Given the description of an element on the screen output the (x, y) to click on. 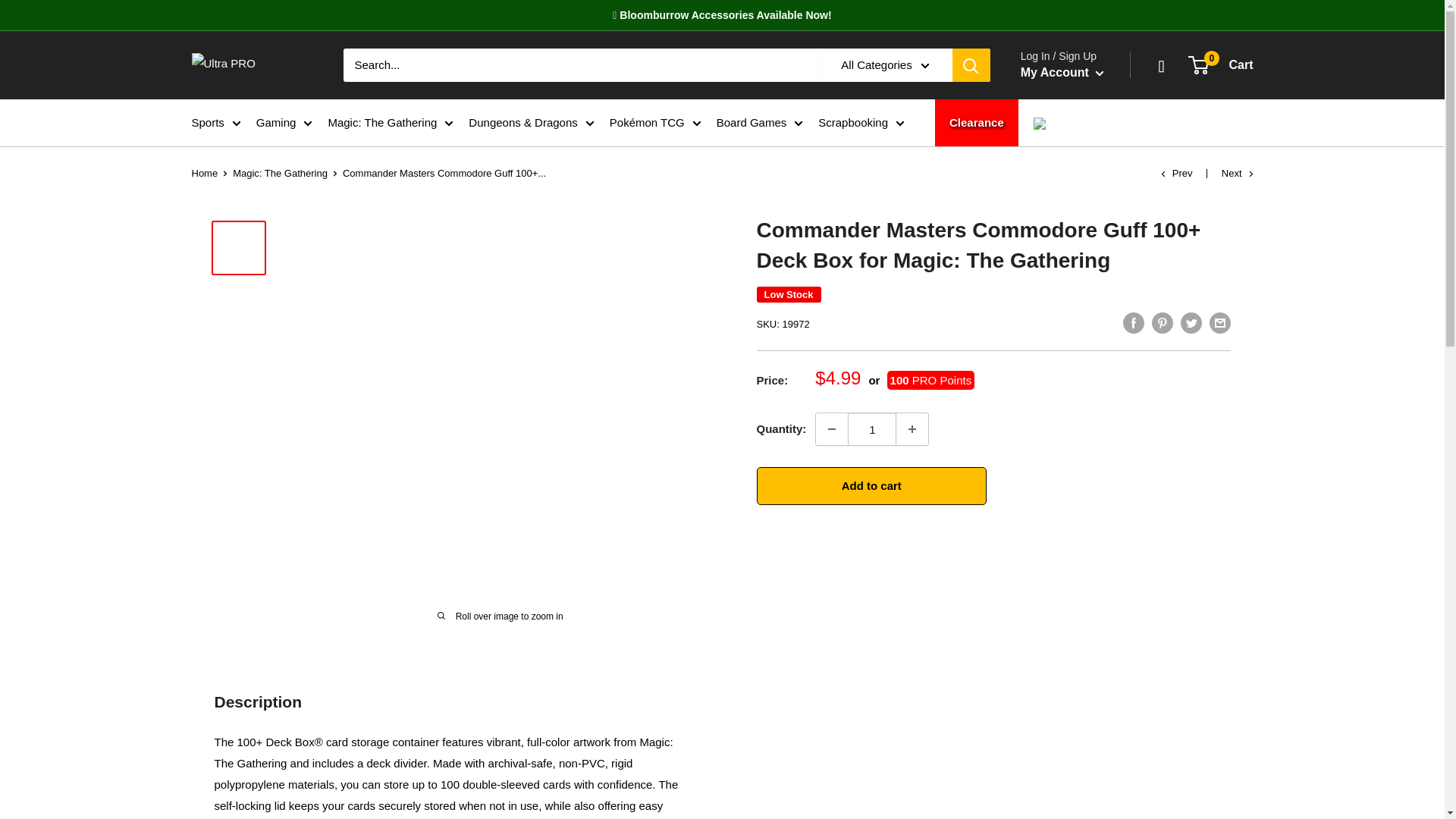
Increase quantity by 1 (912, 429)
1 (871, 429)
Decrease quantity by 1 (831, 429)
